Given the description of an element on the screen output the (x, y) to click on. 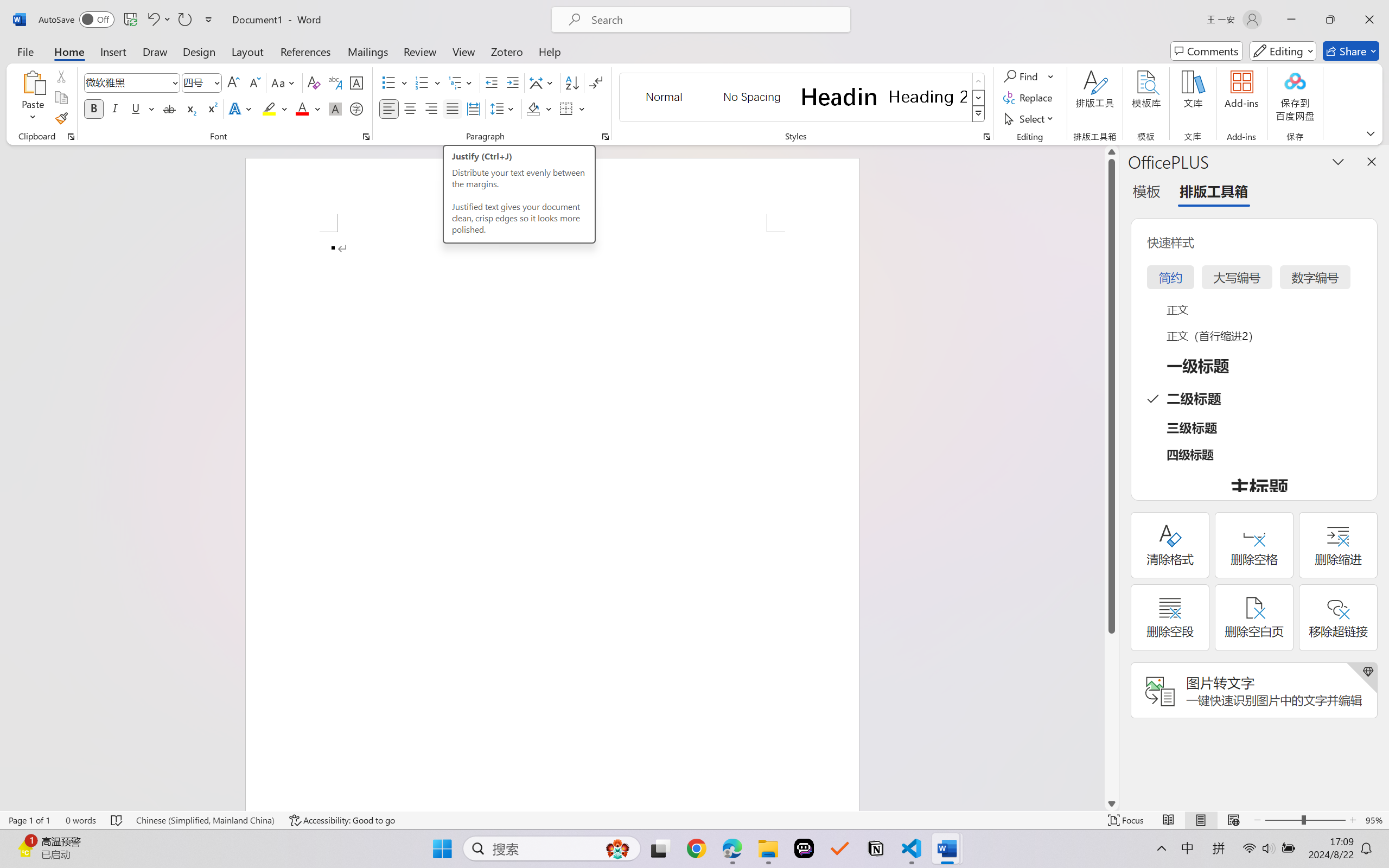
Zoom 95% (1374, 819)
